Given the description of an element on the screen output the (x, y) to click on. 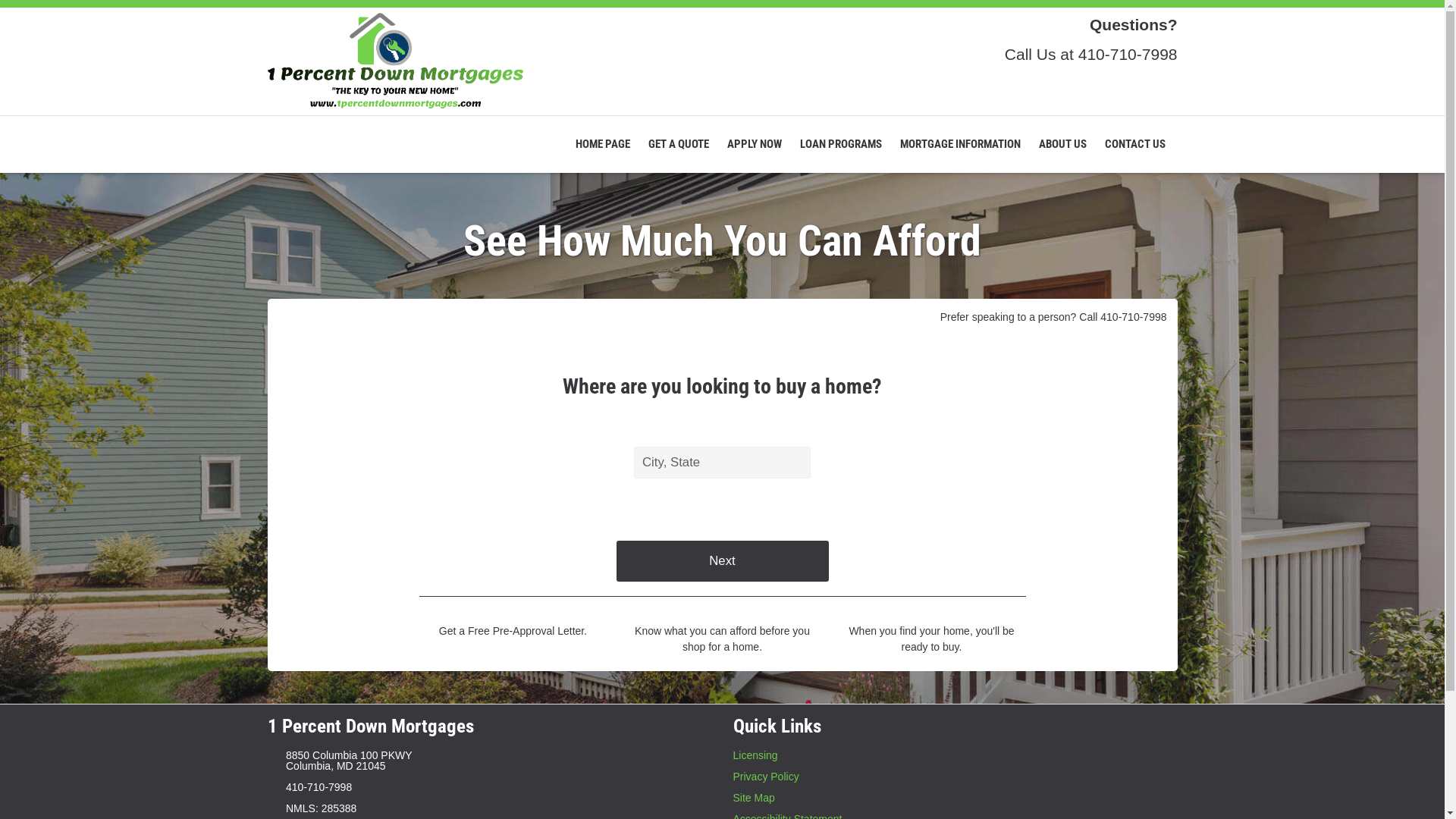
HOME PAGE Element type: text (602, 144)
CONTACT US Element type: text (1135, 144)
Next Element type: text (721, 560)
Site Map Element type: text (954, 797)
Licensing Element type: text (954, 754)
LOAN PROGRAMS Element type: text (840, 144)
GET A QUOTE Element type: text (678, 144)
MORTGAGE INFORMATION Element type: text (960, 144)
Privacy Policy Element type: text (954, 776)
ABOUT US Element type: text (1062, 144)
APPLY NOW Element type: text (754, 144)
